Given the description of an element on the screen output the (x, y) to click on. 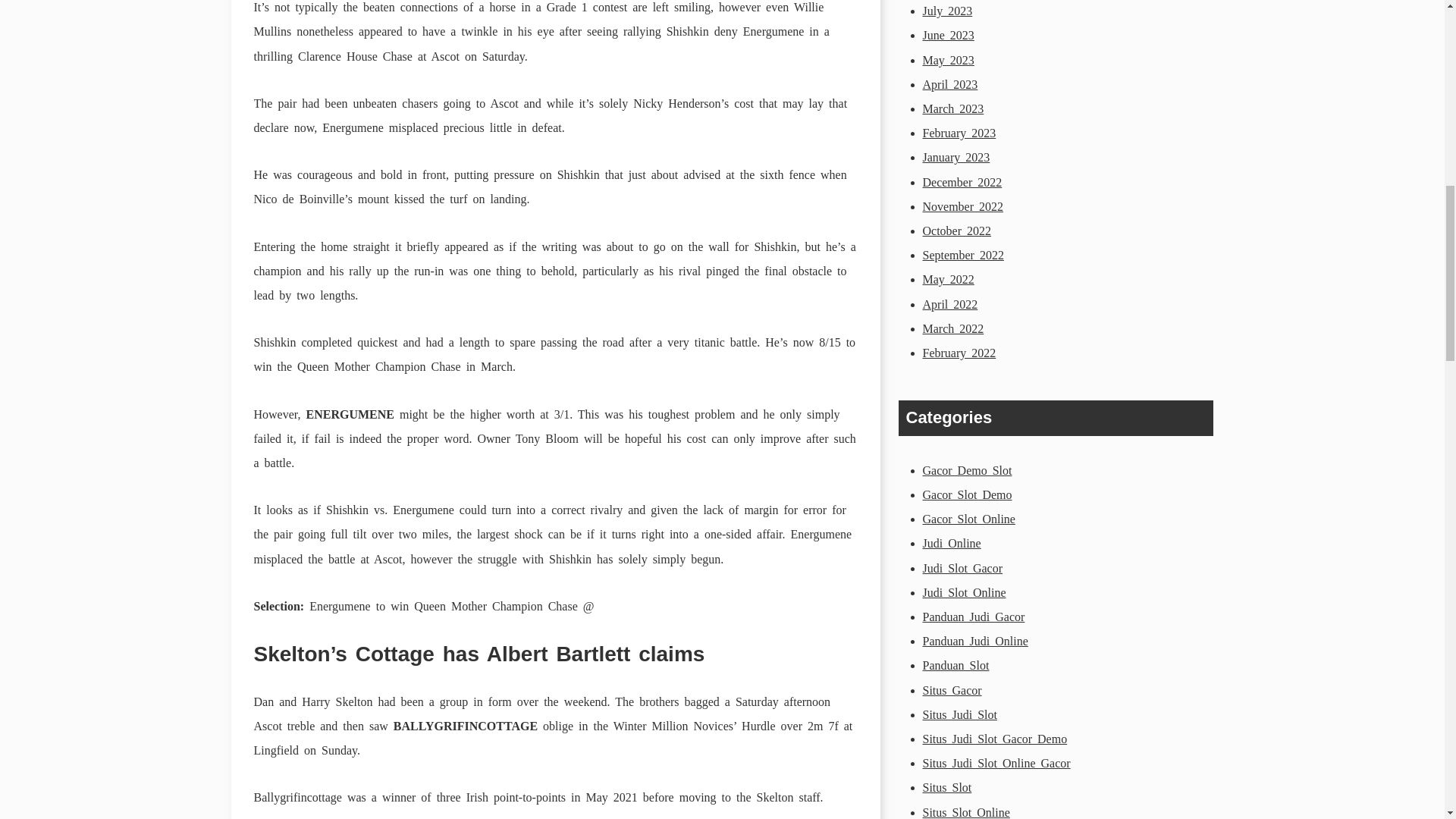
February 2023 (958, 132)
January 2023 (955, 156)
April 2023 (948, 83)
July 2023 (946, 10)
May 2023 (947, 60)
March 2023 (952, 108)
June 2023 (947, 34)
